Given the description of an element on the screen output the (x, y) to click on. 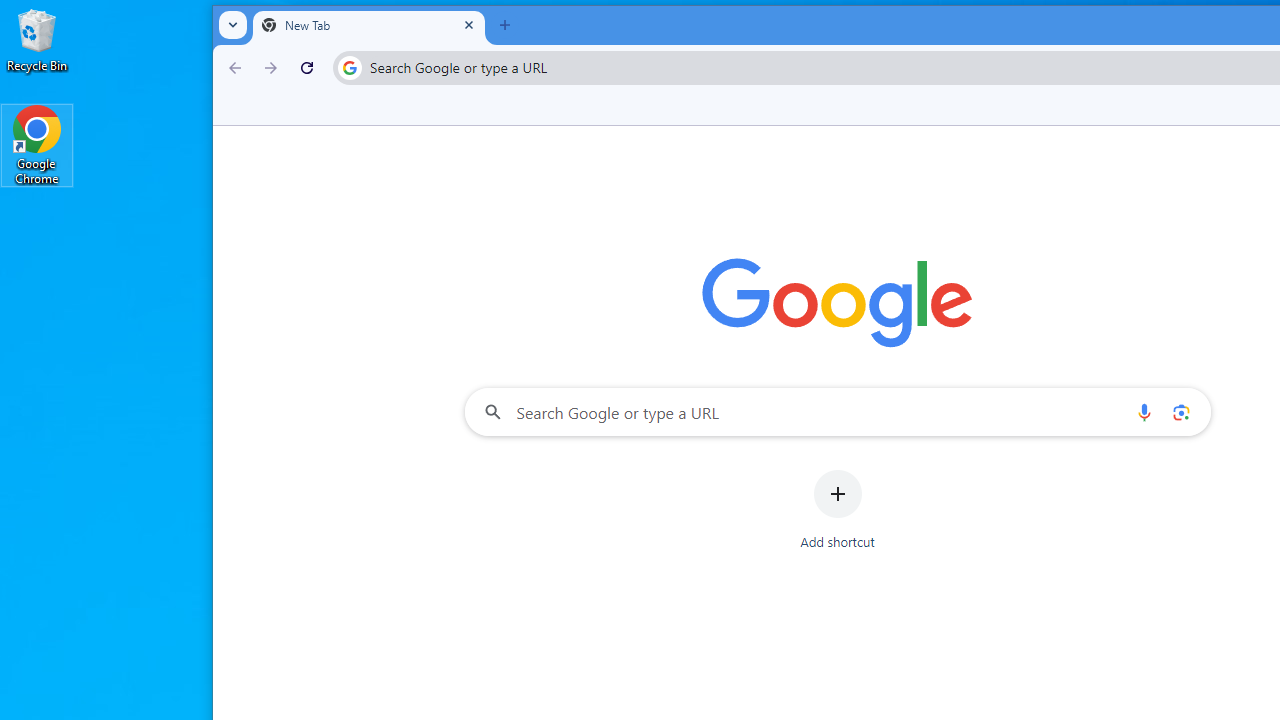
Google Chrome (37, 144)
Recycle Bin (37, 39)
